Given the description of an element on the screen output the (x, y) to click on. 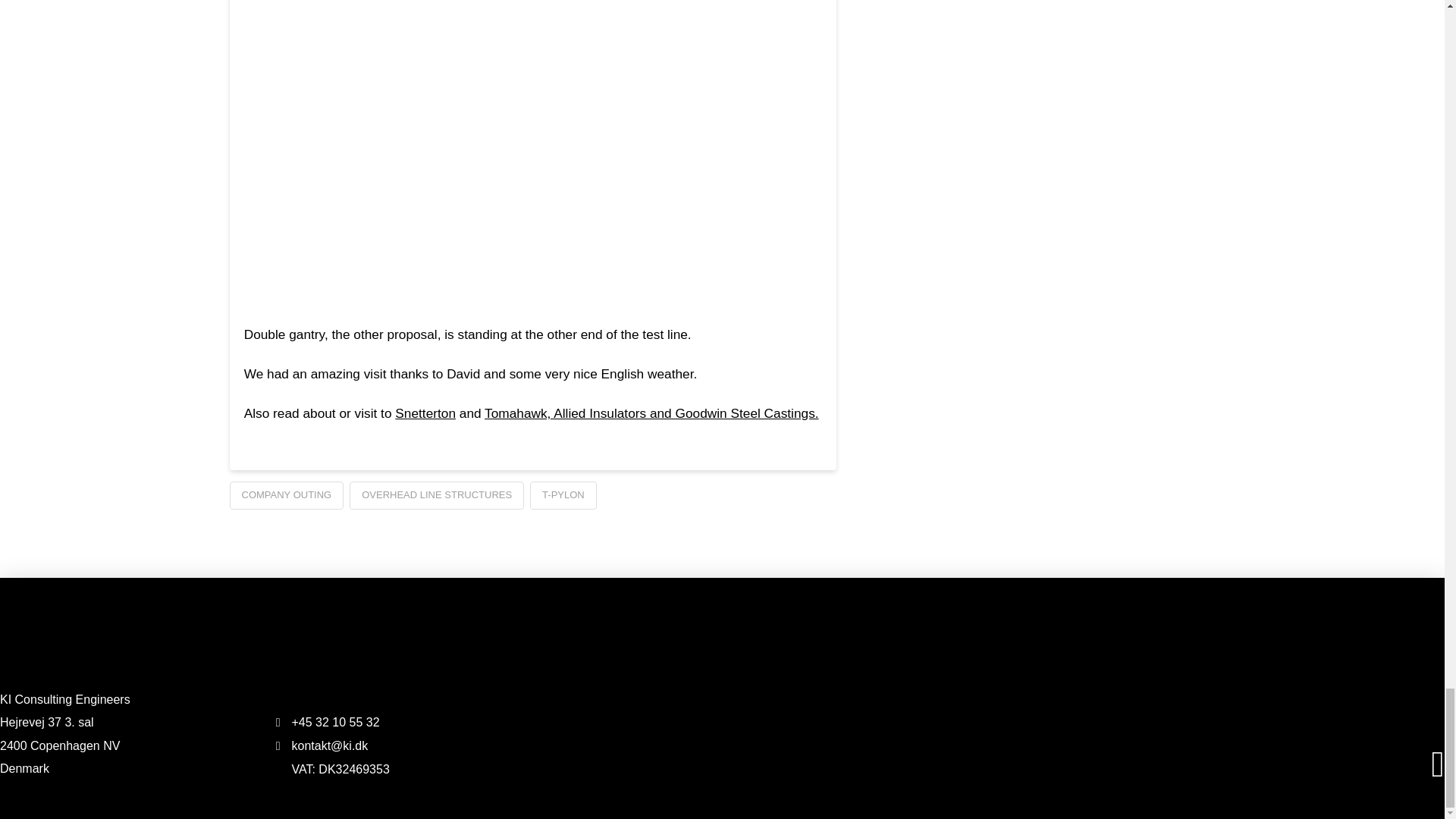
Snetterton (424, 412)
COMPANY OUTING (285, 495)
T-PYLON (562, 495)
OVERHEAD LINE STRUCTURES (436, 495)
Tomahawk, Allied Insulators and Goodwin Steel Castings. (651, 412)
